Given the description of an element on the screen output the (x, y) to click on. 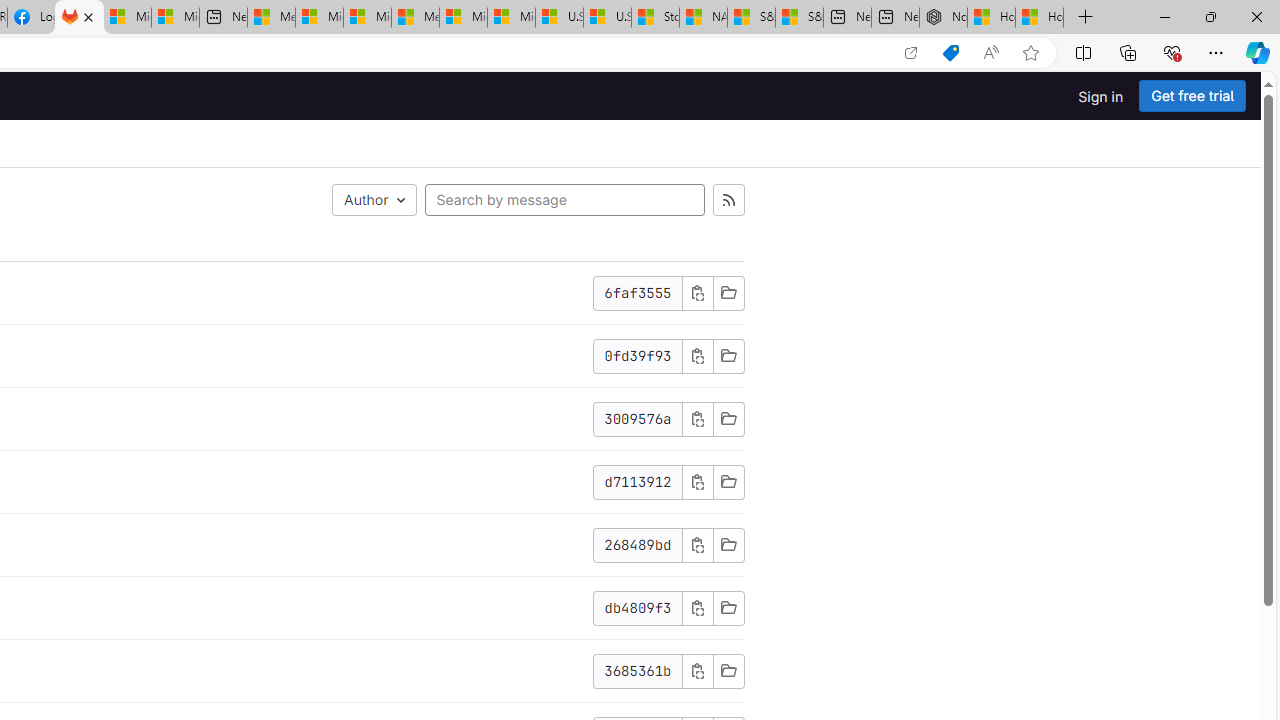
Get free trial (1192, 95)
Get free trial (1192, 95)
Commits feed (727, 200)
Class: s16 (728, 670)
Browse Files (727, 671)
Shopping in Microsoft Edge (950, 53)
Microsoft account | Home (367, 17)
